Given the description of an element on the screen output the (x, y) to click on. 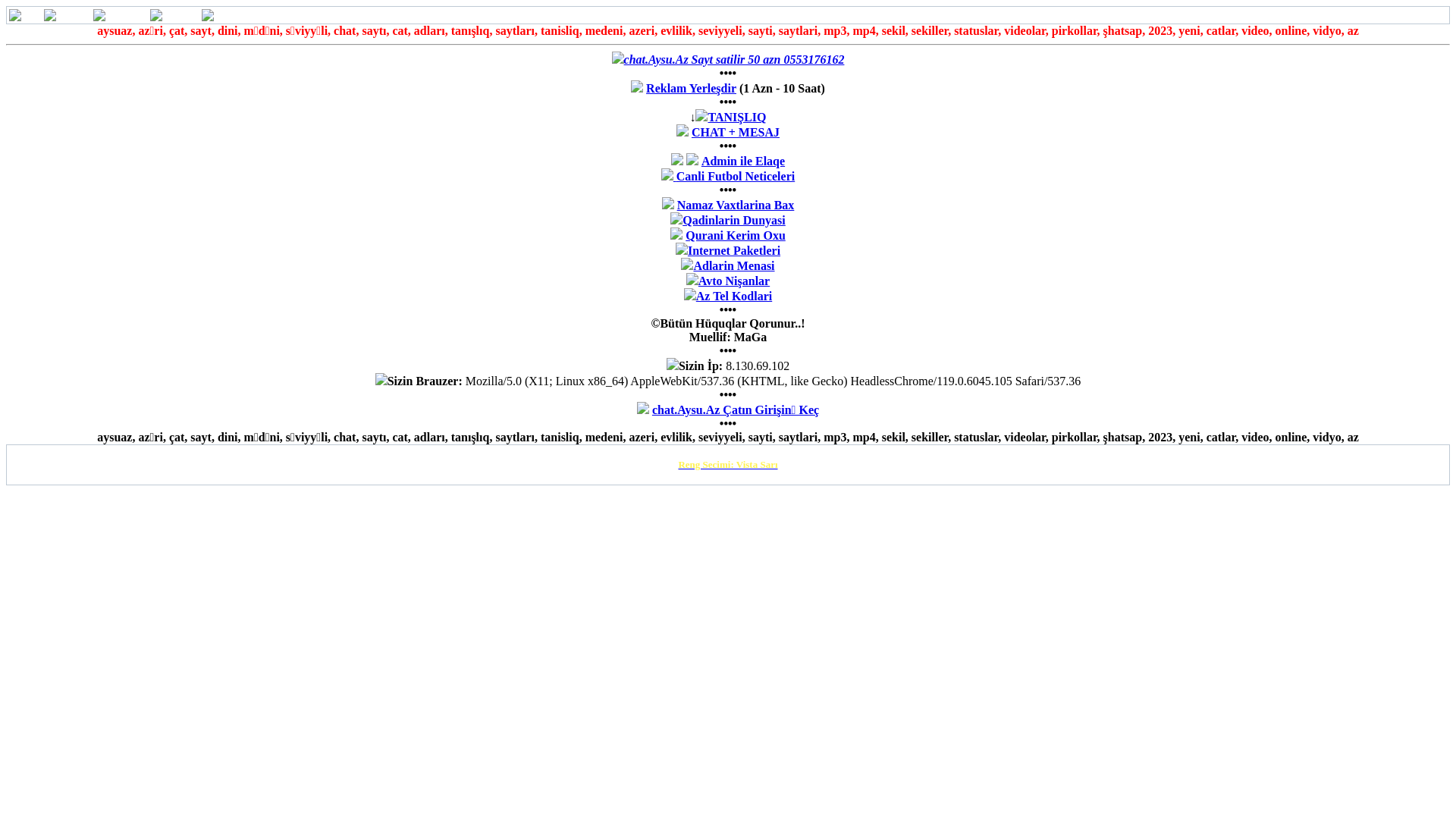
Mektublar Element type: hover (119, 14)
CHAT + MESAJ Element type: text (735, 131)
Hom Element type: hover (24, 15)
Admin ile Elaqe Element type: text (722, 168)
Hom Element type: hover (24, 14)
Internet Paketleri Element type: text (733, 250)
Qonaqlar Element type: hover (174, 14)
Mesajlar Element type: hover (66, 14)
Qonaqlar Element type: hover (174, 15)
Qurani Kerim Oxu Element type: text (735, 235)
Mektublar Element type: hover (119, 15)
Az Tel Kodlari Element type: text (733, 295)
Canli Futbol Neticeleri Element type: text (735, 175)
Namaz Vaxtlarina Bax Element type: text (735, 204)
Qadinlarin Dunyasi Element type: text (733, 219)
Mesajlar Element type: hover (66, 15)
chat.Aysu.Az Sayt satilir 50 azn 0553176162 Element type: text (734, 59)
Adlarin Menasi Element type: text (733, 265)
